Given the description of an element on the screen output the (x, y) to click on. 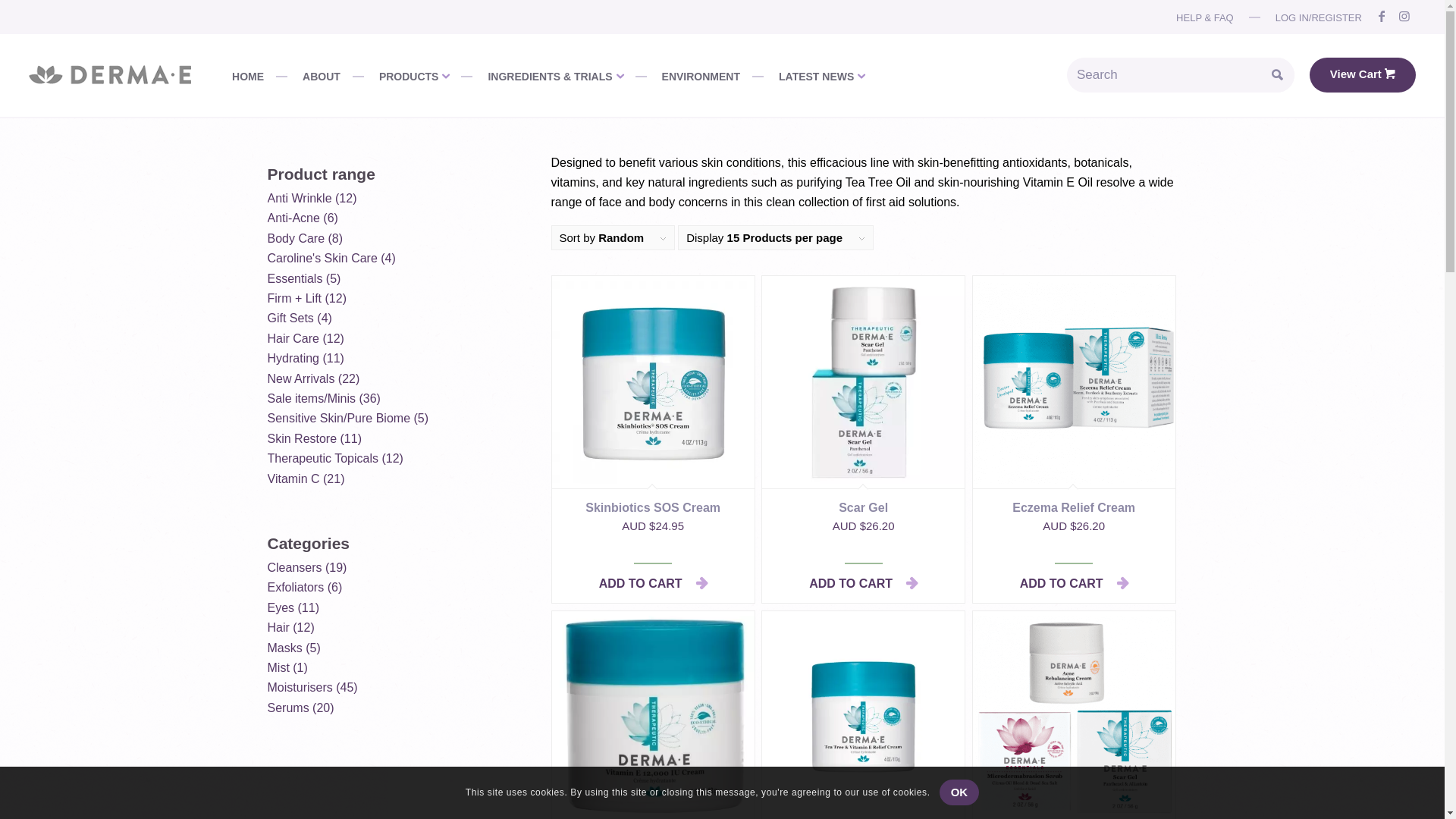
OK Element type: text (959, 792)
Serums Element type: text (287, 707)
Mist Element type: text (277, 667)
Hair Element type: text (277, 627)
Hydrating Element type: text (292, 357)
HELP & FAQ Element type: text (1204, 17)
Therapeutic Topicals Element type: text (321, 457)
dermae-logo Element type: hover (109, 74)
Exfoliators Element type: text (294, 586)
Masks Element type: text (283, 647)
HOME Element type: text (247, 74)
Vitamin C Element type: text (292, 478)
Skin Restore Element type: text (301, 438)
Anti Wrinkle Element type: text (298, 197)
ABOUT Element type: text (307, 74)
Moisturisers Element type: text (299, 686)
ADD TO CART Element type: text (653, 583)
LOG IN/REGISTER Element type: text (1304, 17)
INGREDIENTS & TRIALS Element type: text (541, 74)
Instagram Element type: hover (1404, 17)
Gift Sets Element type: text (289, 317)
ADD TO CART Element type: text (863, 583)
Sale items/Minis Element type: text (310, 398)
PRODUCTS Element type: text (400, 74)
Sensitive Skin/Pure Biome Element type: text (338, 417)
Scar Gel
AUD $26.20 Element type: text (863, 420)
Hair Care Element type: text (292, 338)
New Arrivals Element type: text (300, 378)
Skinbiotics SOS Cream
AUD $24.95 Element type: text (653, 420)
Caroline's Skin Care Element type: text (321, 257)
Firm + Lift Element type: text (293, 297)
ENVIRONMENT Element type: text (687, 74)
ADD TO CART Element type: text (1073, 583)
LATEST NEWS Element type: text (808, 74)
Anti-Acne Element type: text (292, 217)
Eyes Element type: text (280, 607)
Eczema Relief Cream
AUD $26.20 Element type: text (1073, 420)
Facebook Element type: hover (1381, 17)
Cleansers Element type: text (293, 567)
Essentials Element type: text (294, 278)
Body Care Element type: text (295, 238)
